Given the description of an element on the screen output the (x, y) to click on. 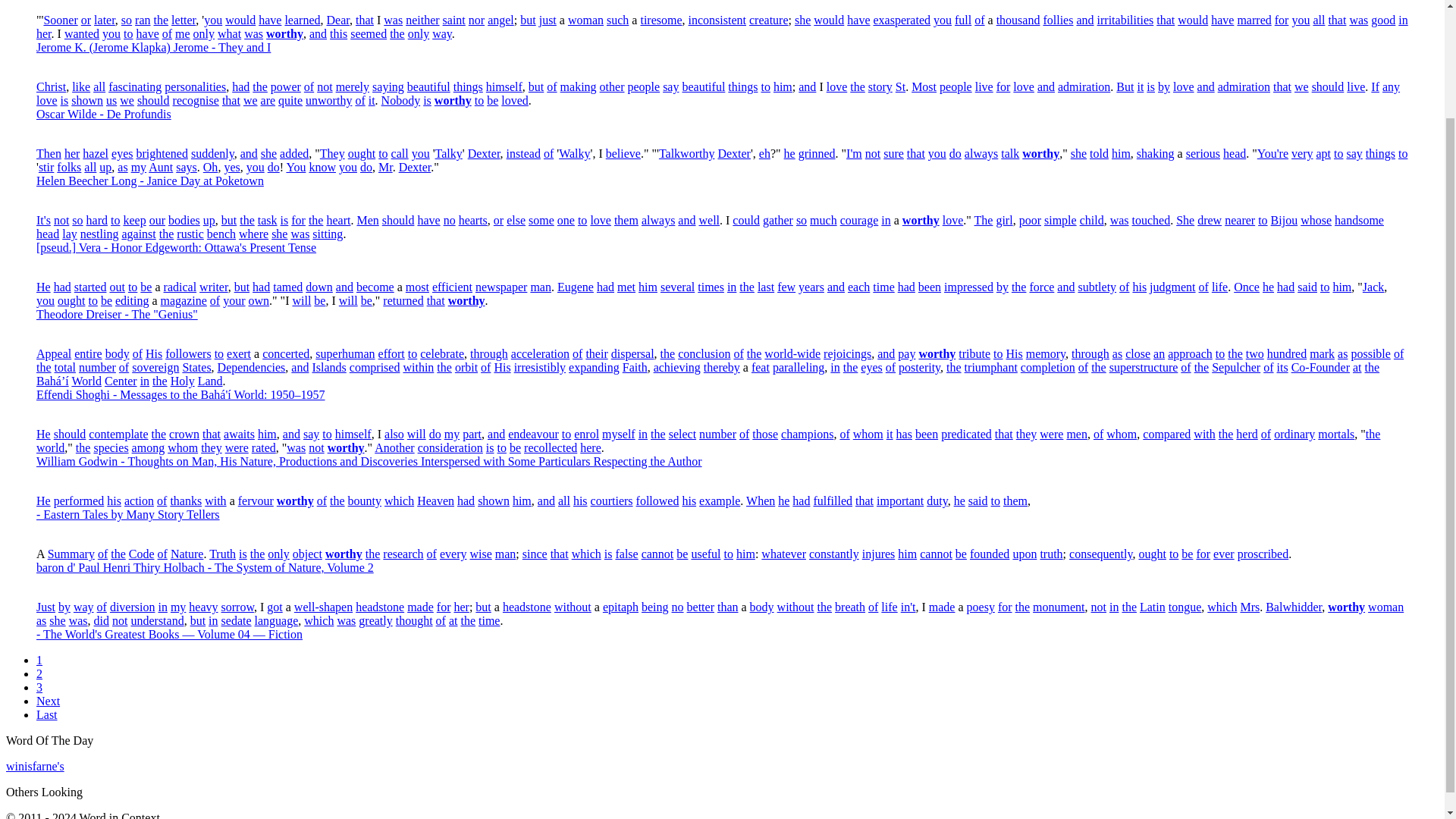
Click to find the word in context (240, 19)
Click to find the word in context (85, 19)
would (240, 19)
Click to find the word in context (527, 19)
Click to find the word in context (301, 19)
later (104, 19)
so (126, 19)
Click to find the word in context (364, 19)
Click to find the word in context (126, 19)
Click to find the word in context (183, 19)
Click to find the word in context (547, 19)
Sooner (60, 19)
Click to find the word in context (500, 19)
Click to find the word in context (142, 19)
Click to find the word in context (453, 19)
